Given the description of an element on the screen output the (x, y) to click on. 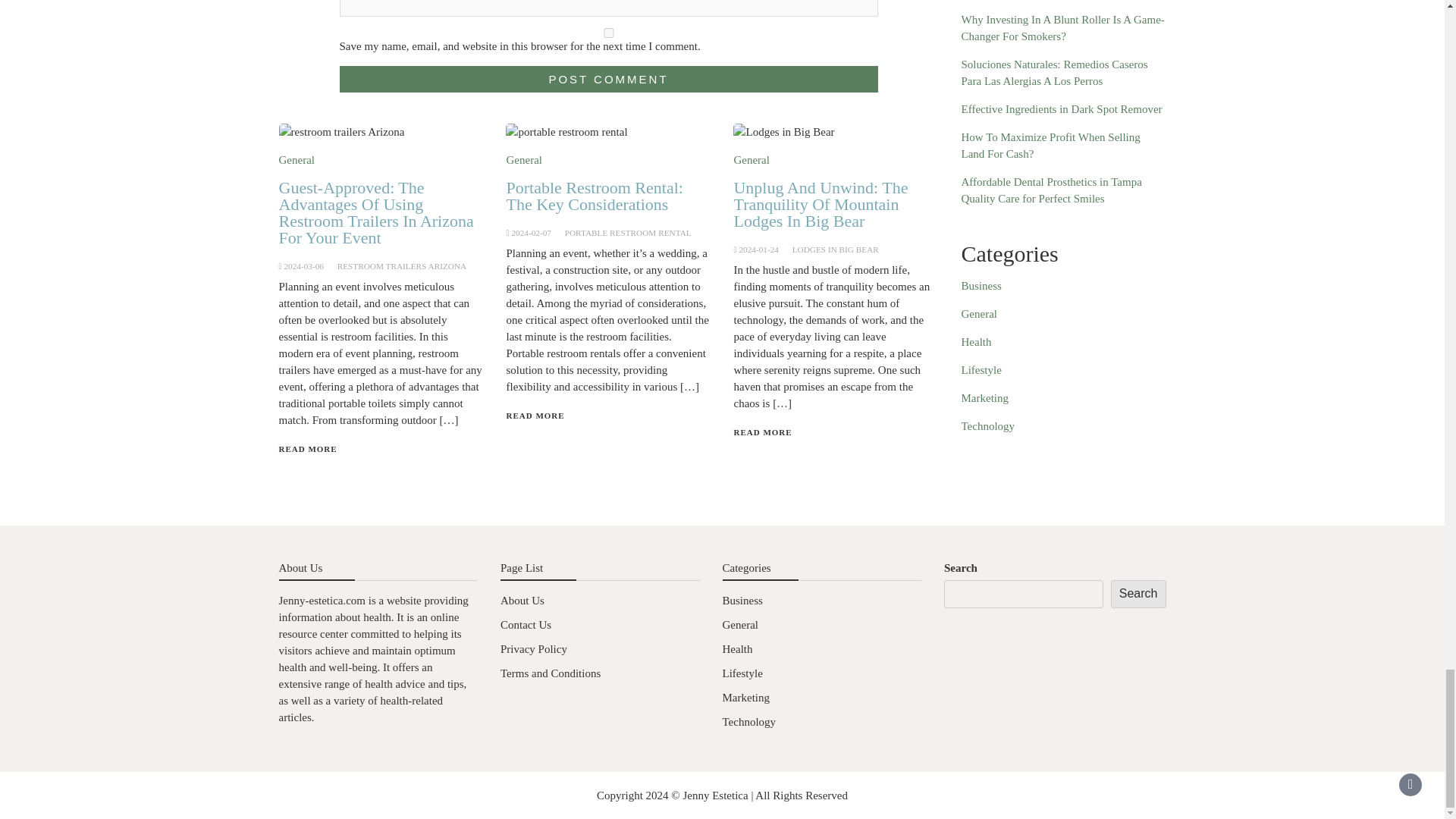
General (296, 159)
yes (608, 32)
2024-03-06 (303, 266)
READ MORE (308, 448)
Post Comment (608, 79)
RESTROOM TRAILERS ARIZONA (401, 266)
Post Comment (608, 79)
General (523, 159)
